Given the description of an element on the screen output the (x, y) to click on. 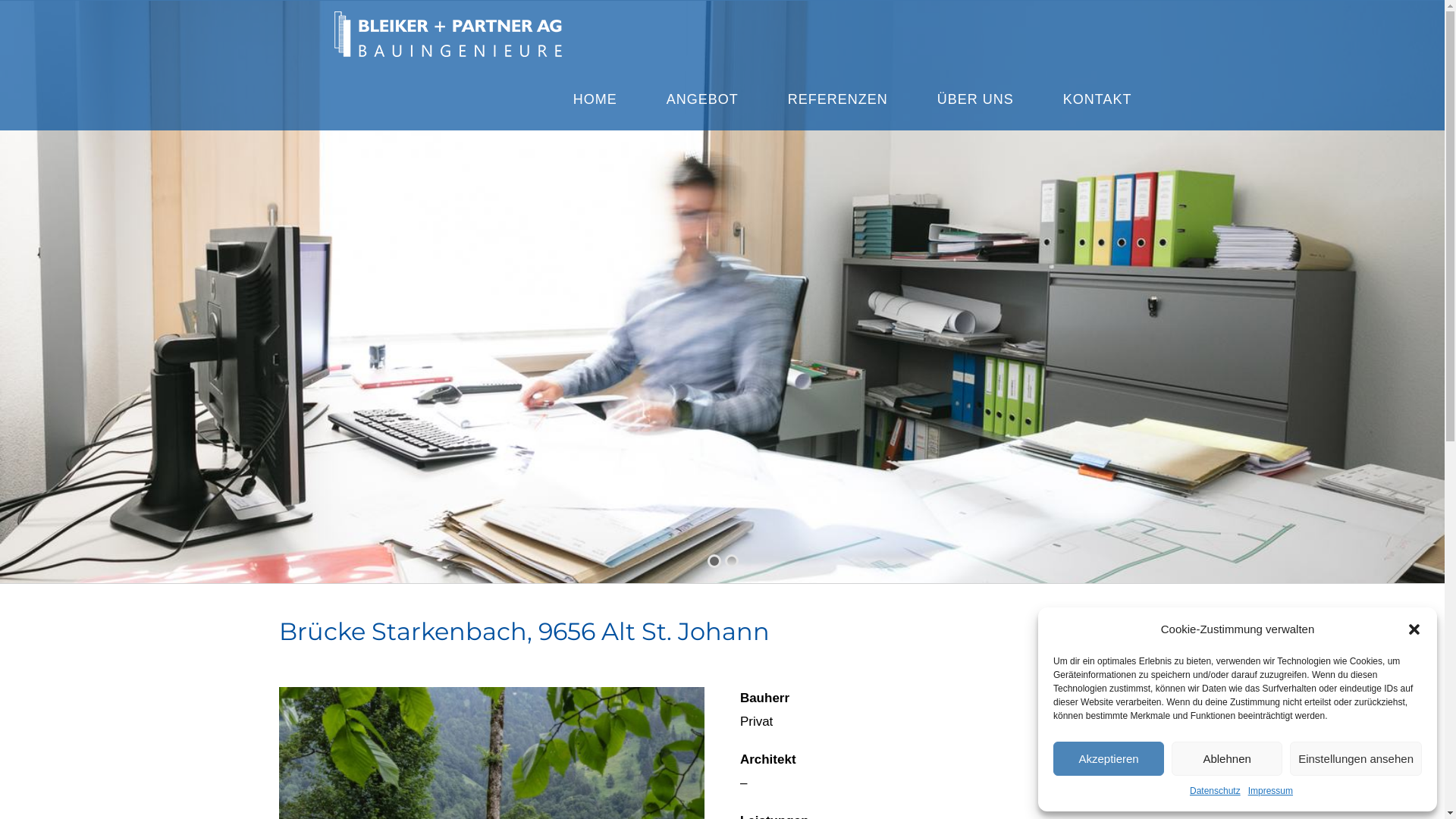
ANGEBOT Element type: text (702, 99)
Ablehnen Element type: text (1226, 758)
REFERENZEN Element type: text (837, 99)
Akzeptieren Element type: text (1108, 758)
HOME Element type: text (595, 99)
KONTAKT Element type: text (1097, 99)
Datenschutz Element type: text (1214, 791)
Impressum Element type: text (1270, 791)
Einstellungen ansehen Element type: text (1355, 758)
